Given the description of an element on the screen output the (x, y) to click on. 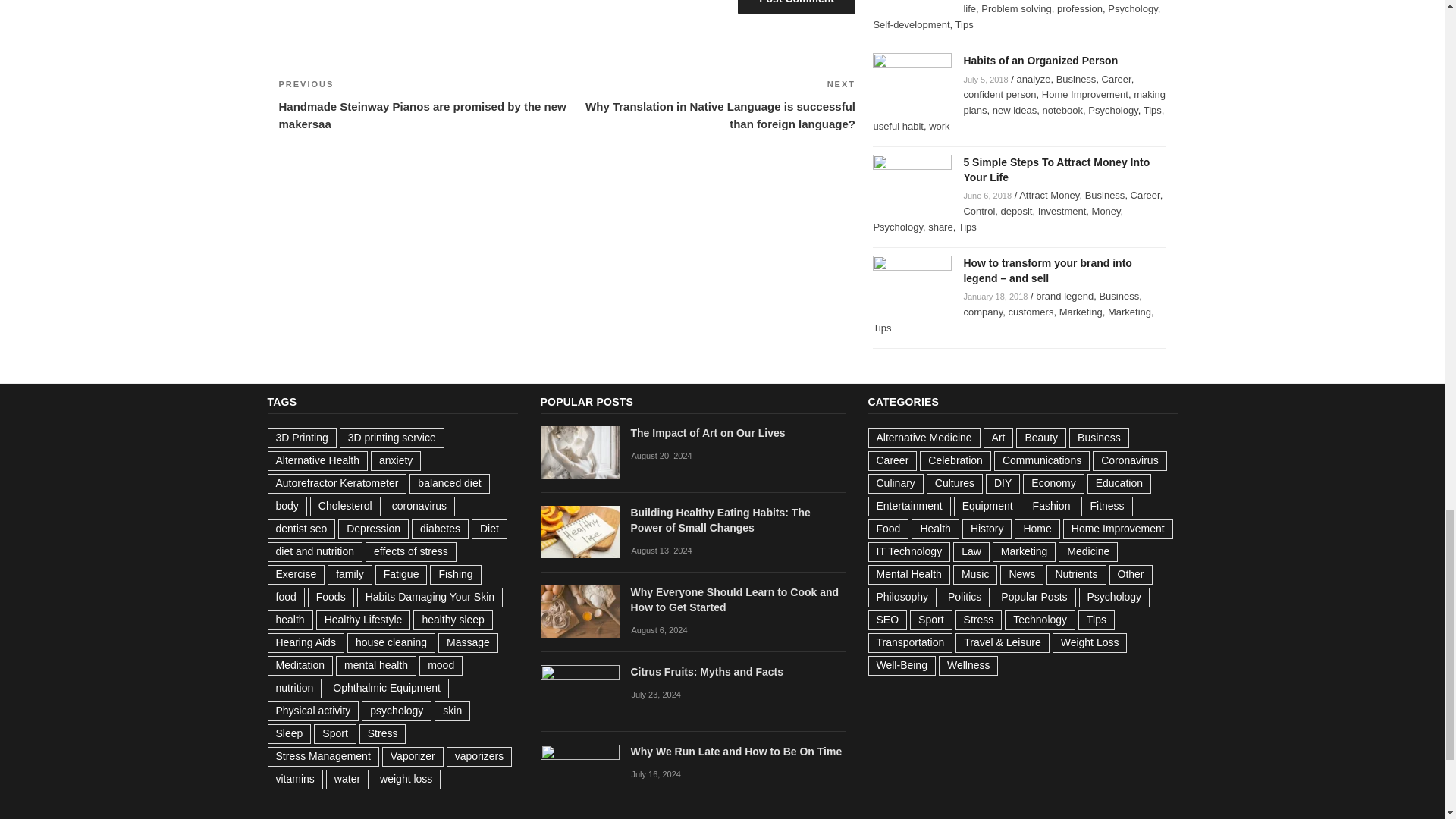
Post Comment (797, 7)
Post Comment (797, 7)
